Given the description of an element on the screen output the (x, y) to click on. 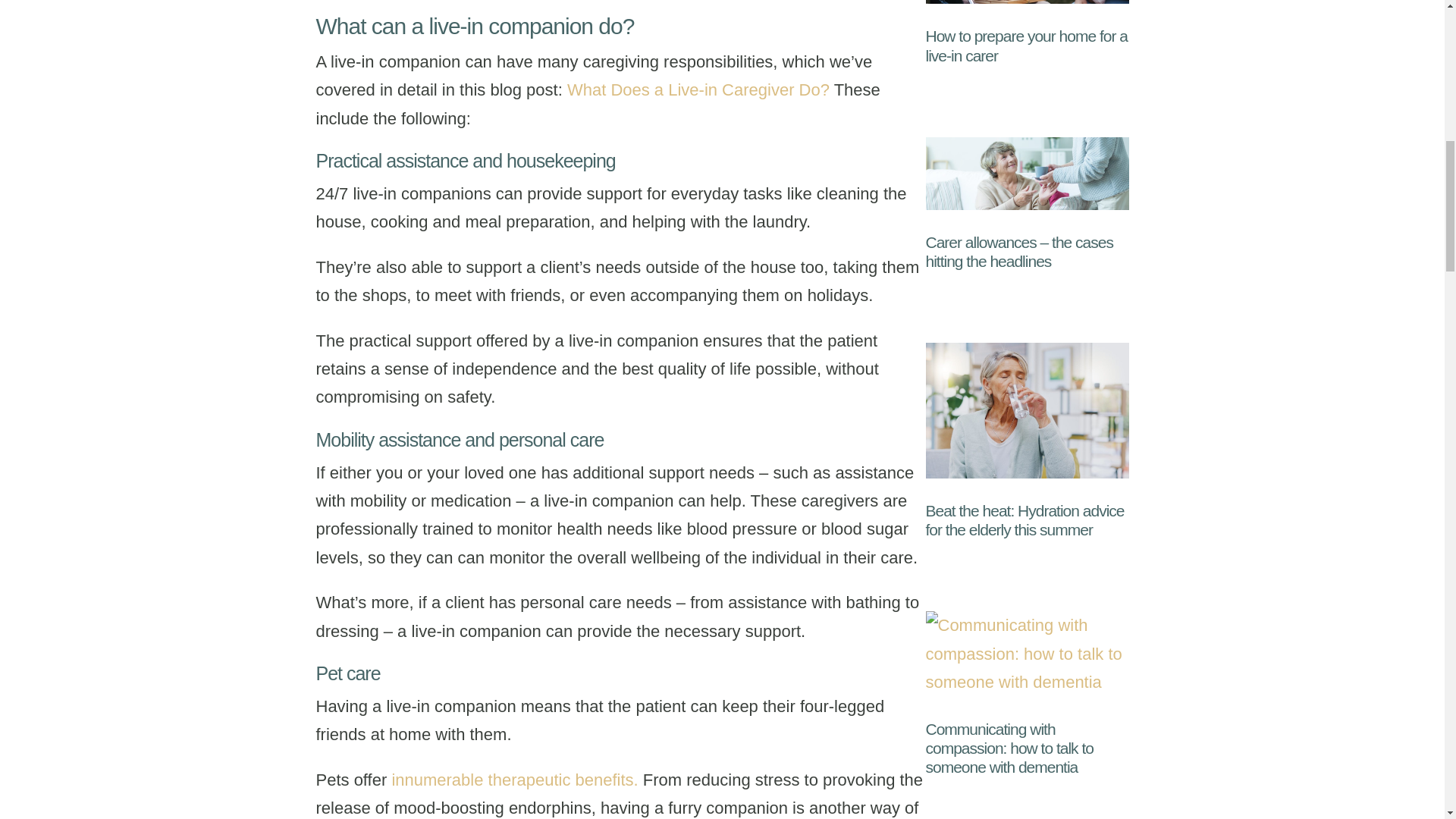
What Does a Live-in Caregiver Do? (698, 89)
Beat the heat: Hydration advice for the elderly this summer (1024, 520)
innumerable therapeutic benefits. (514, 779)
How to prepare your home for a live-in carer (1025, 45)
